Given the description of an element on the screen output the (x, y) to click on. 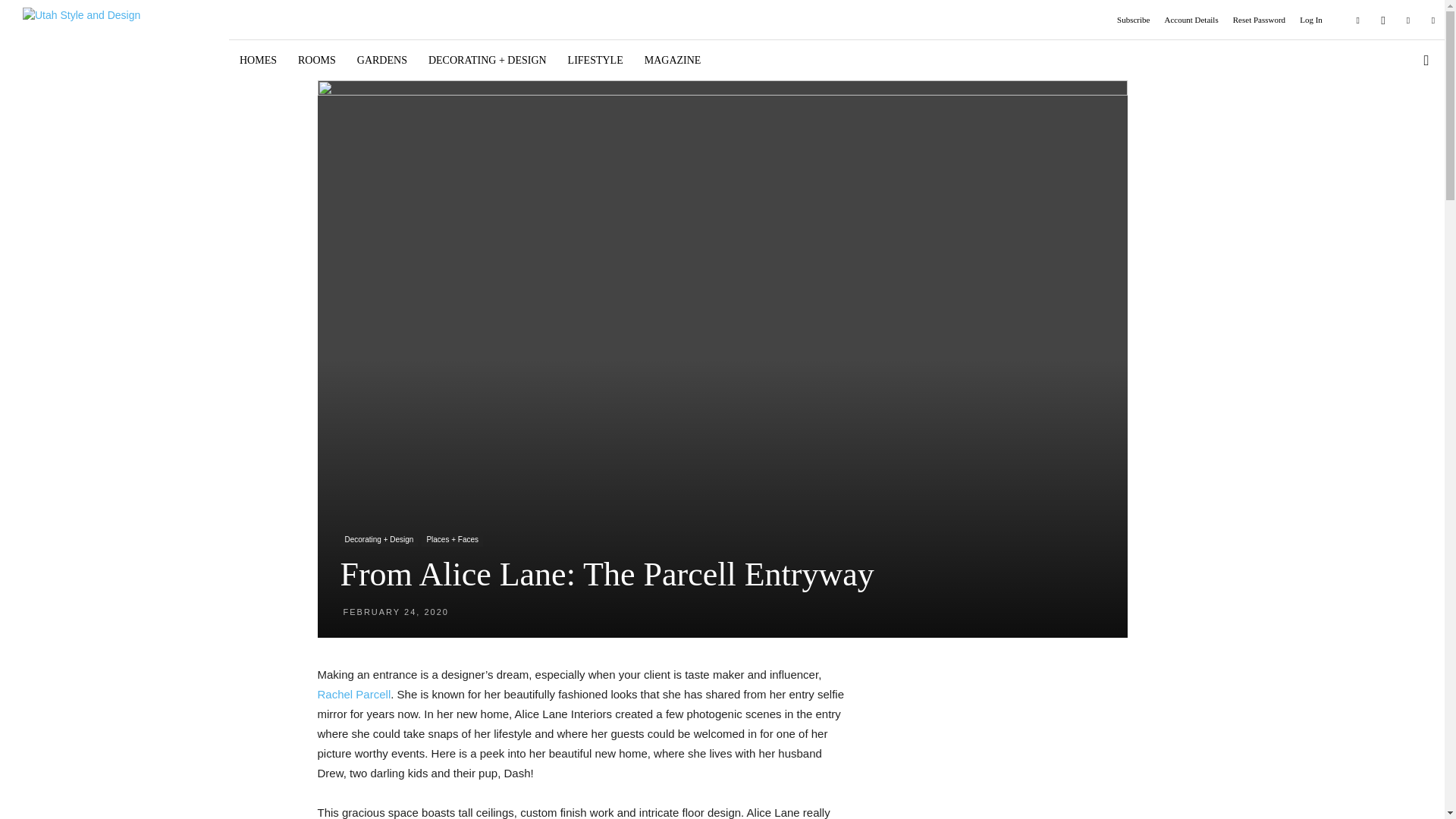
Subscribe (1133, 19)
Account Details (1191, 19)
Facebook (1358, 19)
Pinterest (1407, 19)
Instagram (1382, 19)
